Given the description of an element on the screen output the (x, y) to click on. 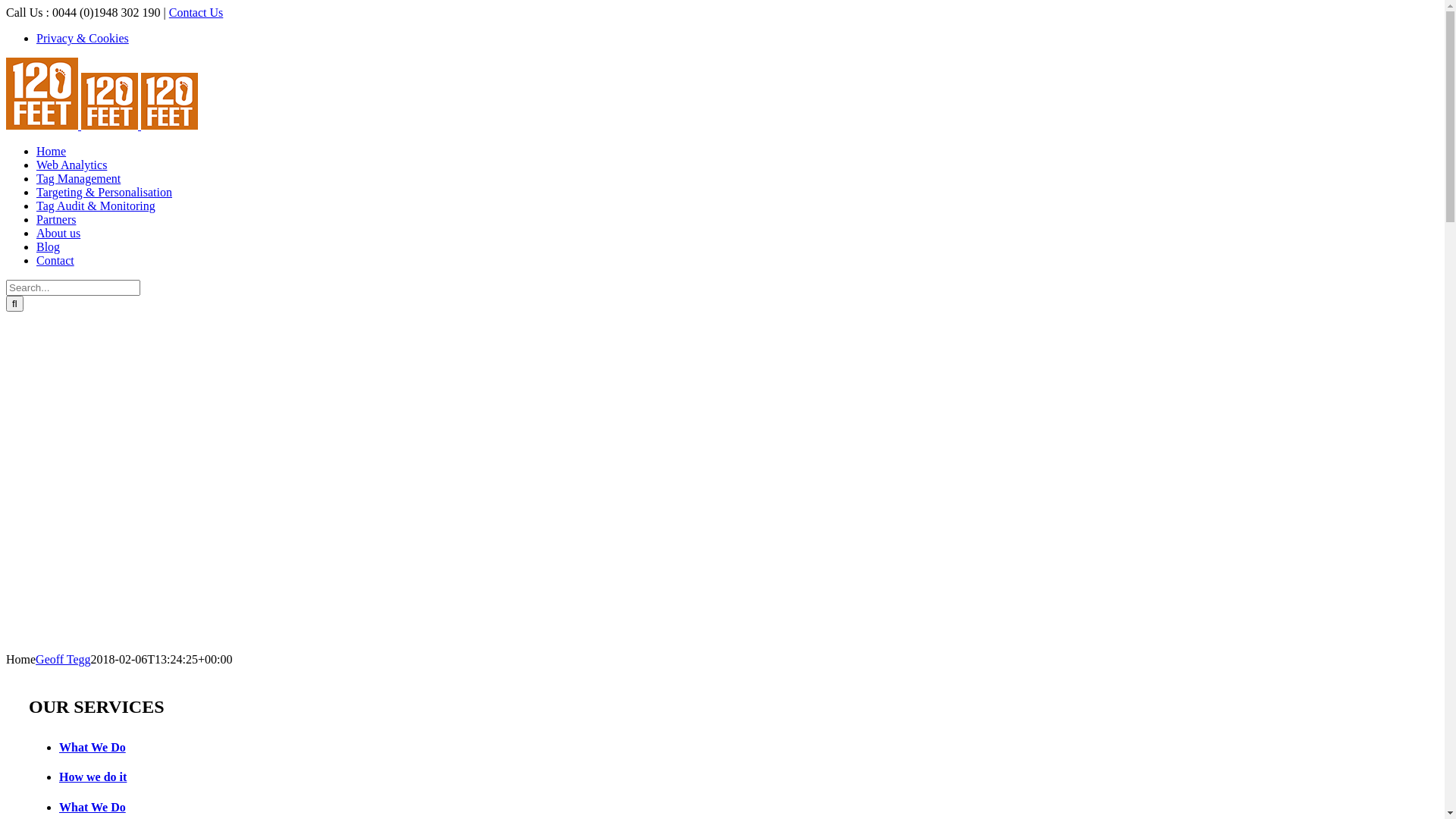
Geoff Tegg Element type: text (63, 658)
Targeting & Personalisation Element type: text (104, 191)
About us Element type: text (58, 232)
Privacy & Cookies Element type: text (82, 37)
Partners Element type: text (55, 219)
What We Do Element type: text (487, 807)
Skip to content Element type: text (5, 5)
Tag Audit & Monitoring Element type: text (95, 205)
Web Analytics Element type: text (71, 164)
Home Element type: text (50, 150)
What We Do Element type: text (487, 747)
Contact Us Element type: text (196, 12)
Tag Management Element type: text (78, 178)
Blog Element type: text (47, 246)
How we do it Element type: text (487, 777)
Contact Element type: text (55, 260)
